Given the description of an element on the screen output the (x, y) to click on. 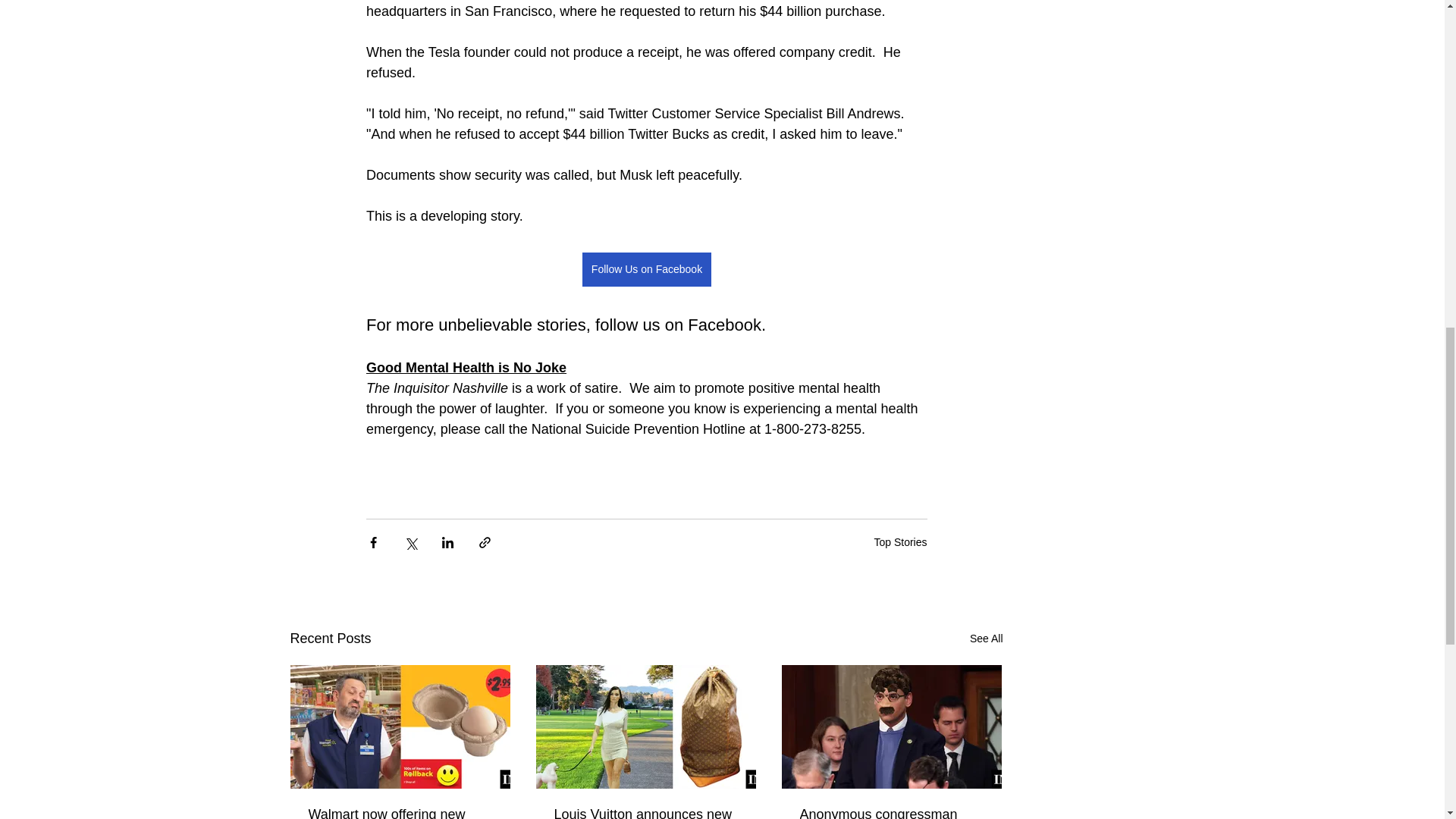
See All (986, 639)
Louis Vuitton announces new line of designer dog poo bags (644, 812)
Top Stories (899, 541)
Follow Us on Facebook (645, 269)
